Given the description of an element on the screen output the (x, y) to click on. 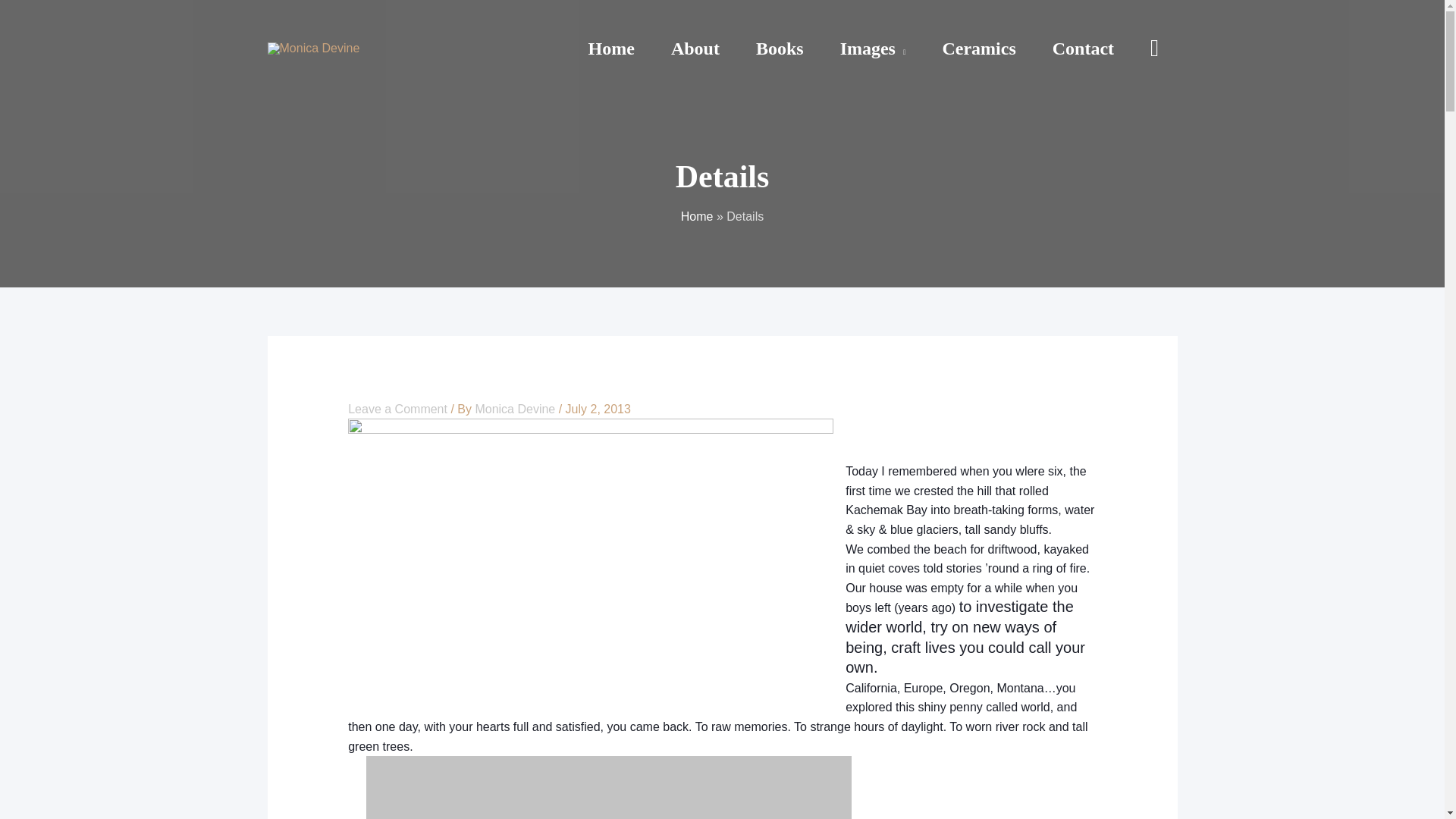
Images (873, 48)
Home (697, 215)
Books (780, 48)
Leave a Comment (396, 408)
Contact (1082, 48)
Home (611, 48)
About (695, 48)
Ceramics (978, 48)
View all posts by Monica Devine (515, 408)
Search (1154, 47)
Monica Devine (515, 408)
